Given the description of an element on the screen output the (x, y) to click on. 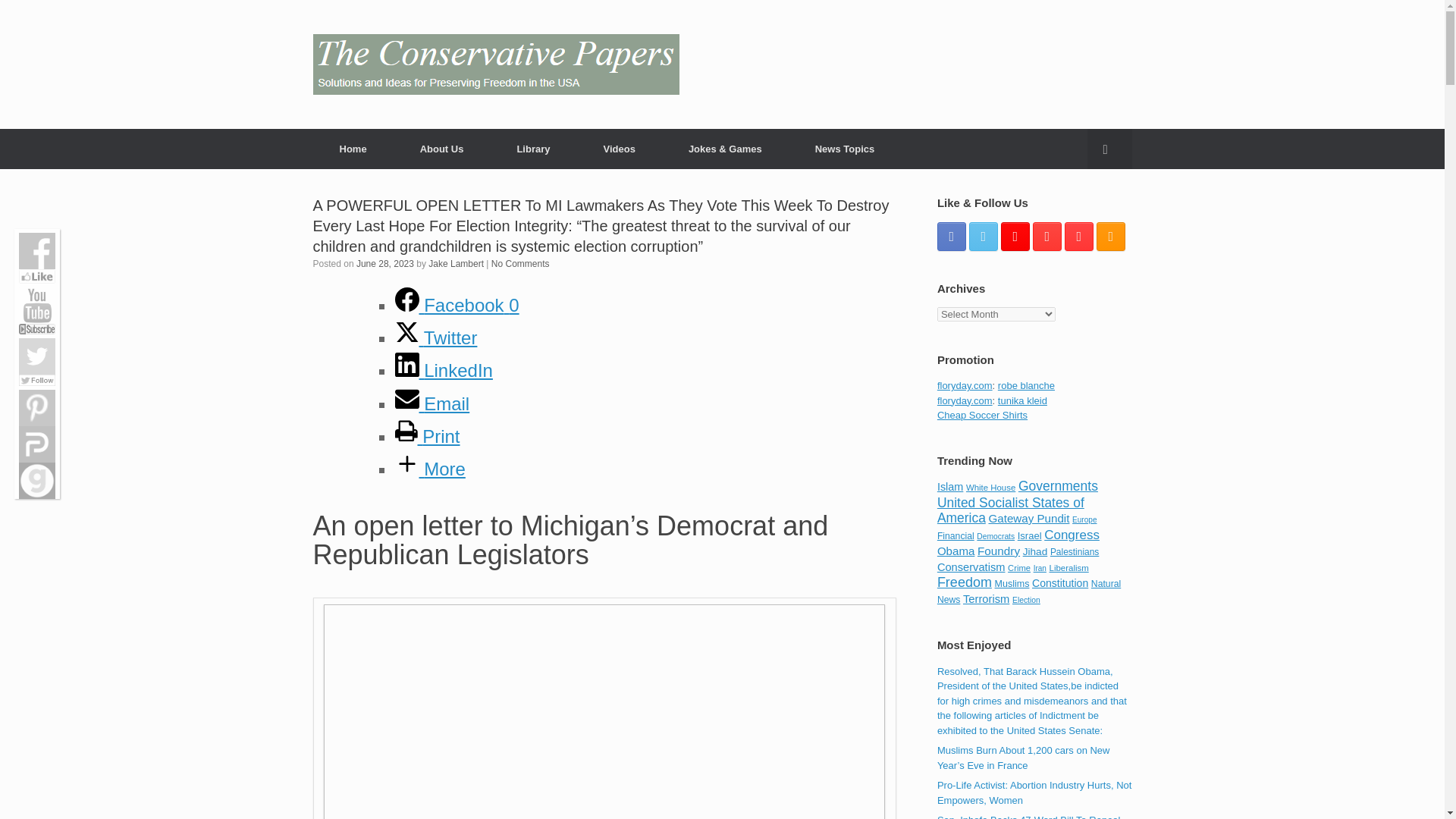
No Comments (521, 263)
March 23, 2014 (1034, 792)
The Conservative Papers Facebook (951, 235)
Email (431, 403)
News Topics (845, 148)
Jake Lambert (455, 263)
LinkedIn (443, 370)
April 4, 2012 (1031, 700)
Twitter (435, 337)
Print (427, 435)
